Given the description of an element on the screen output the (x, y) to click on. 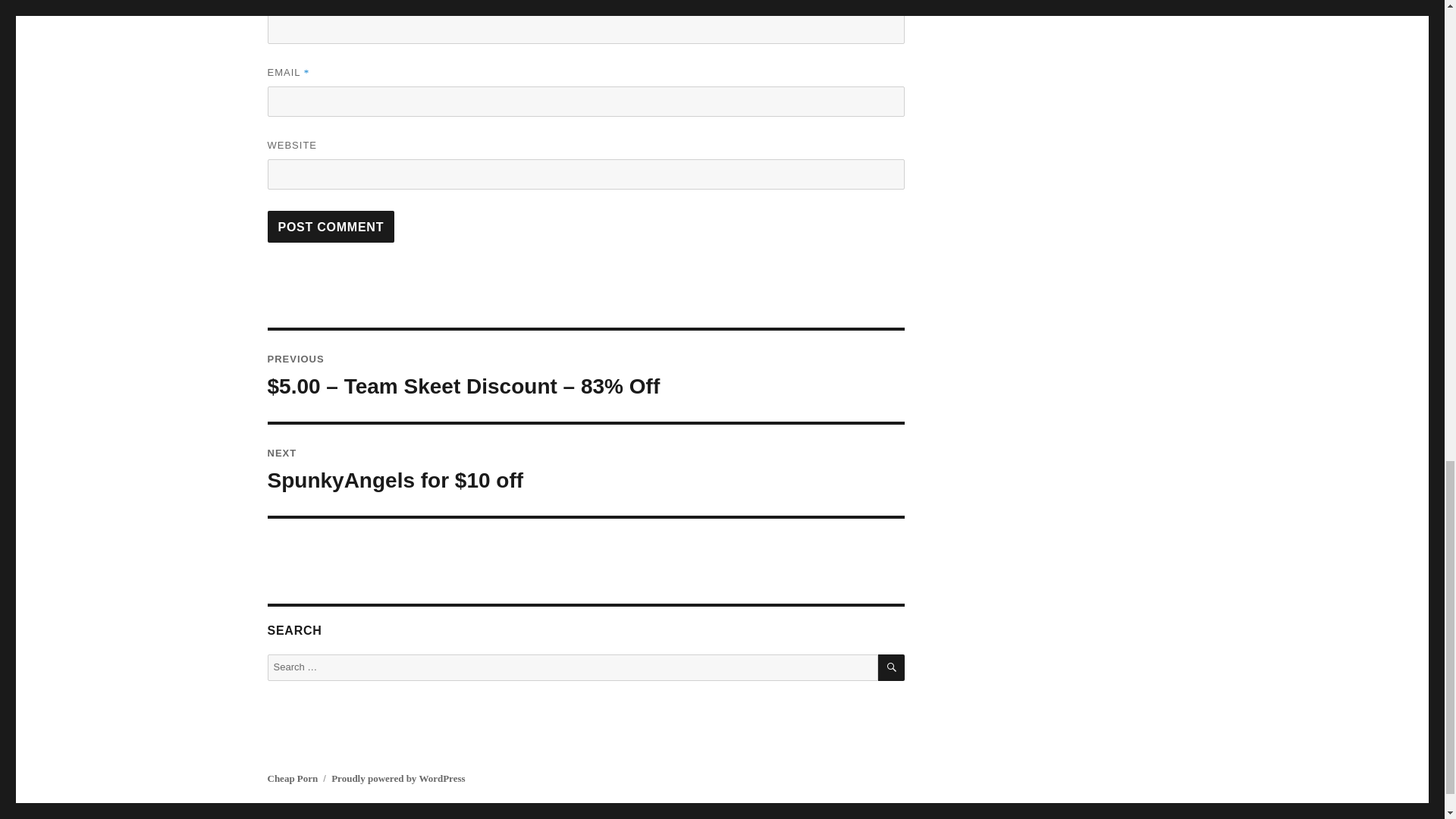
SEARCH (890, 667)
Post Comment (330, 226)
Post Comment (330, 226)
